Given the description of an element on the screen output the (x, y) to click on. 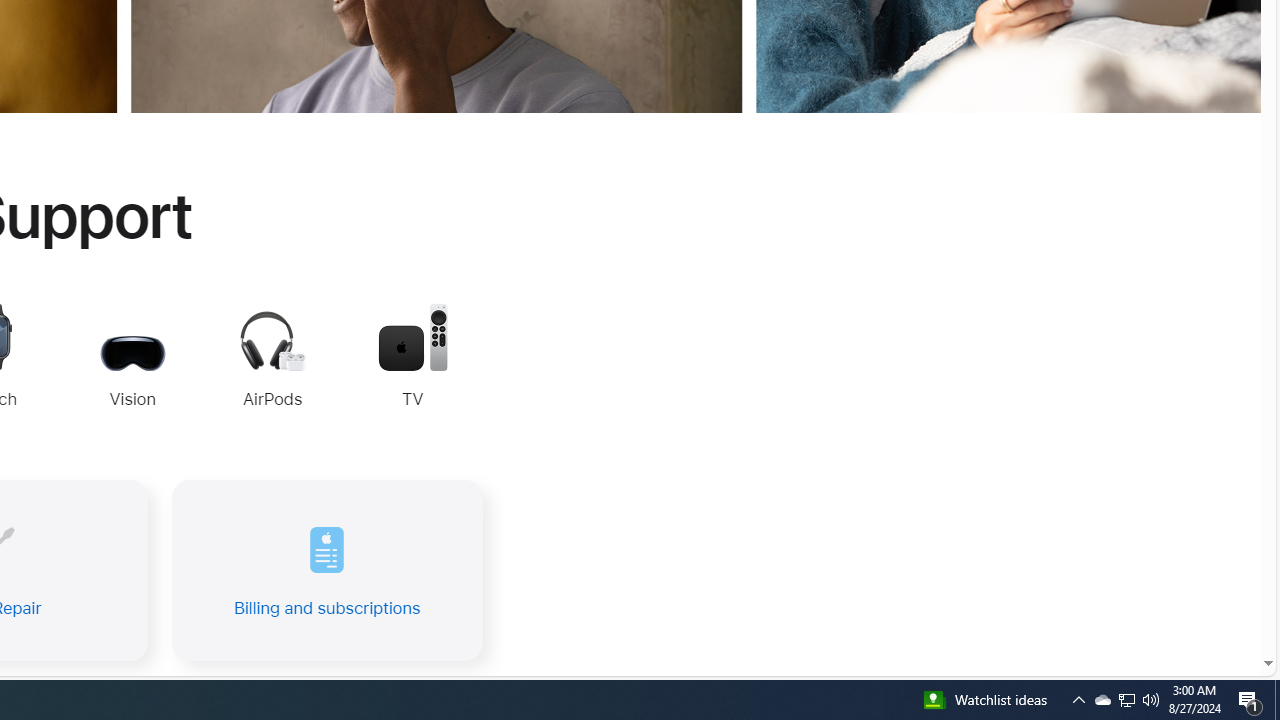
TV Support (412, 358)
AirPods Support (272, 362)
Billing and subscriptions (326, 570)
Apple Vision Pro Support (132, 358)
